Given the description of an element on the screen output the (x, y) to click on. 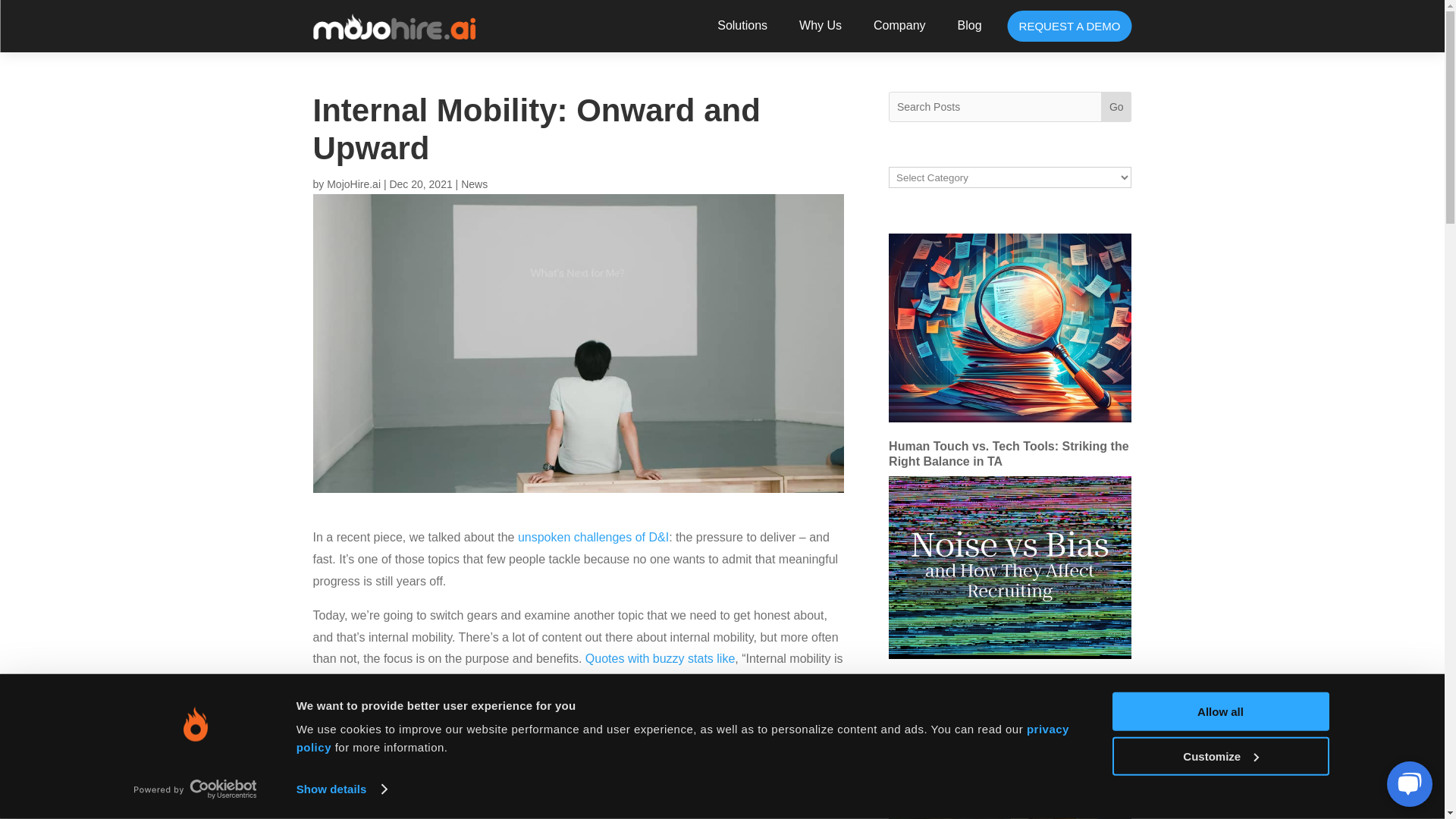
Show details (341, 789)
privacy policy (682, 737)
flexile-black-logo (394, 26)
Posts by MojoHire.ai (353, 184)
Firefly Magnifying Glass Over a Resume Pile 6630 (1009, 327)
